Given the description of an element on the screen output the (x, y) to click on. 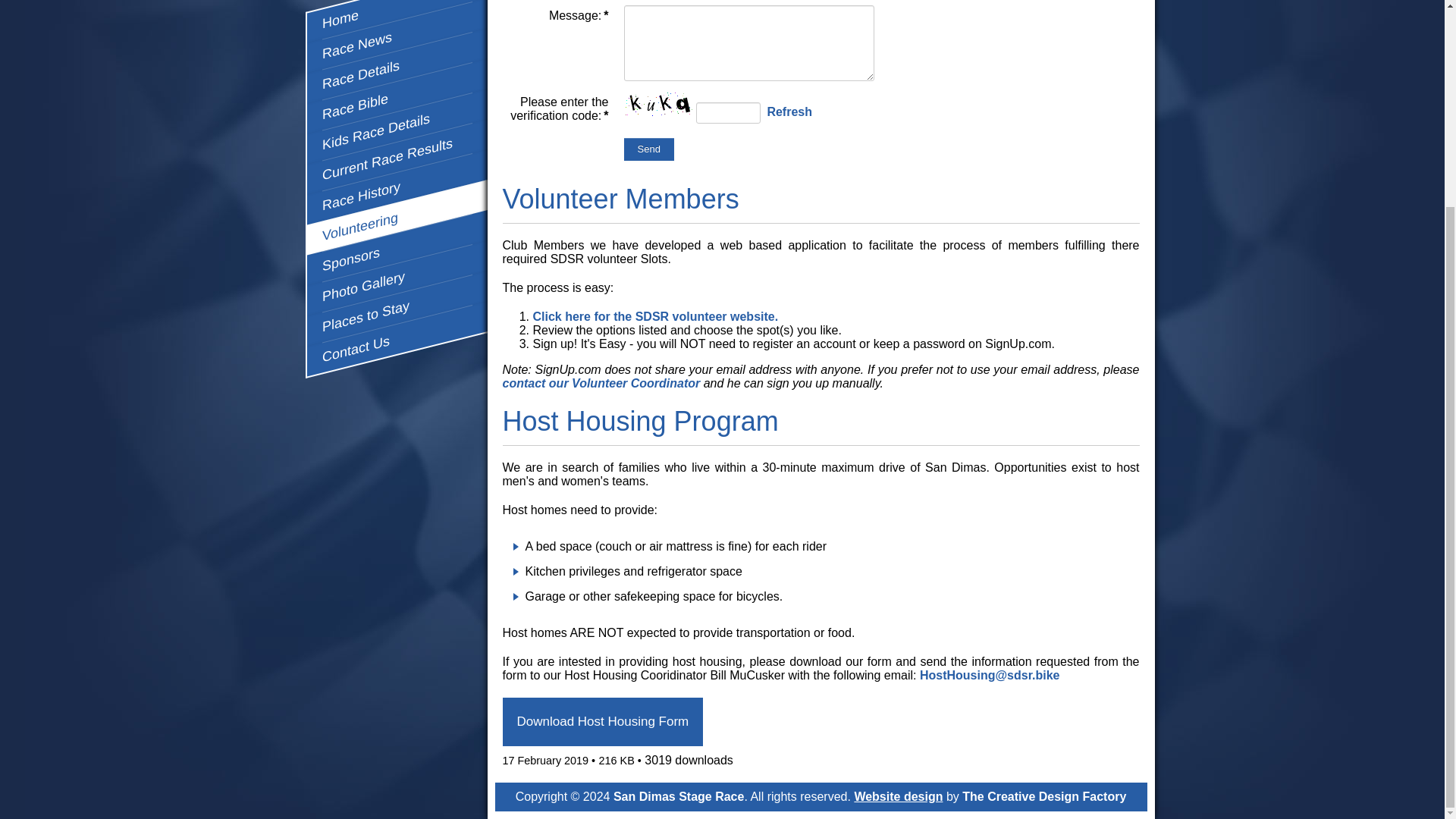
Refresh (789, 111)
Race Bible (396, 77)
Current Race Results (396, 137)
Click here for the SDSR volunteer website. (654, 316)
Sponsors (396, 228)
Download Host Housing Form (602, 721)
Race History (396, 168)
San Dimas Stage Race Volunteer Website (654, 316)
Places to Stay (396, 289)
Race Details (396, 46)
